Given the description of an element on the screen output the (x, y) to click on. 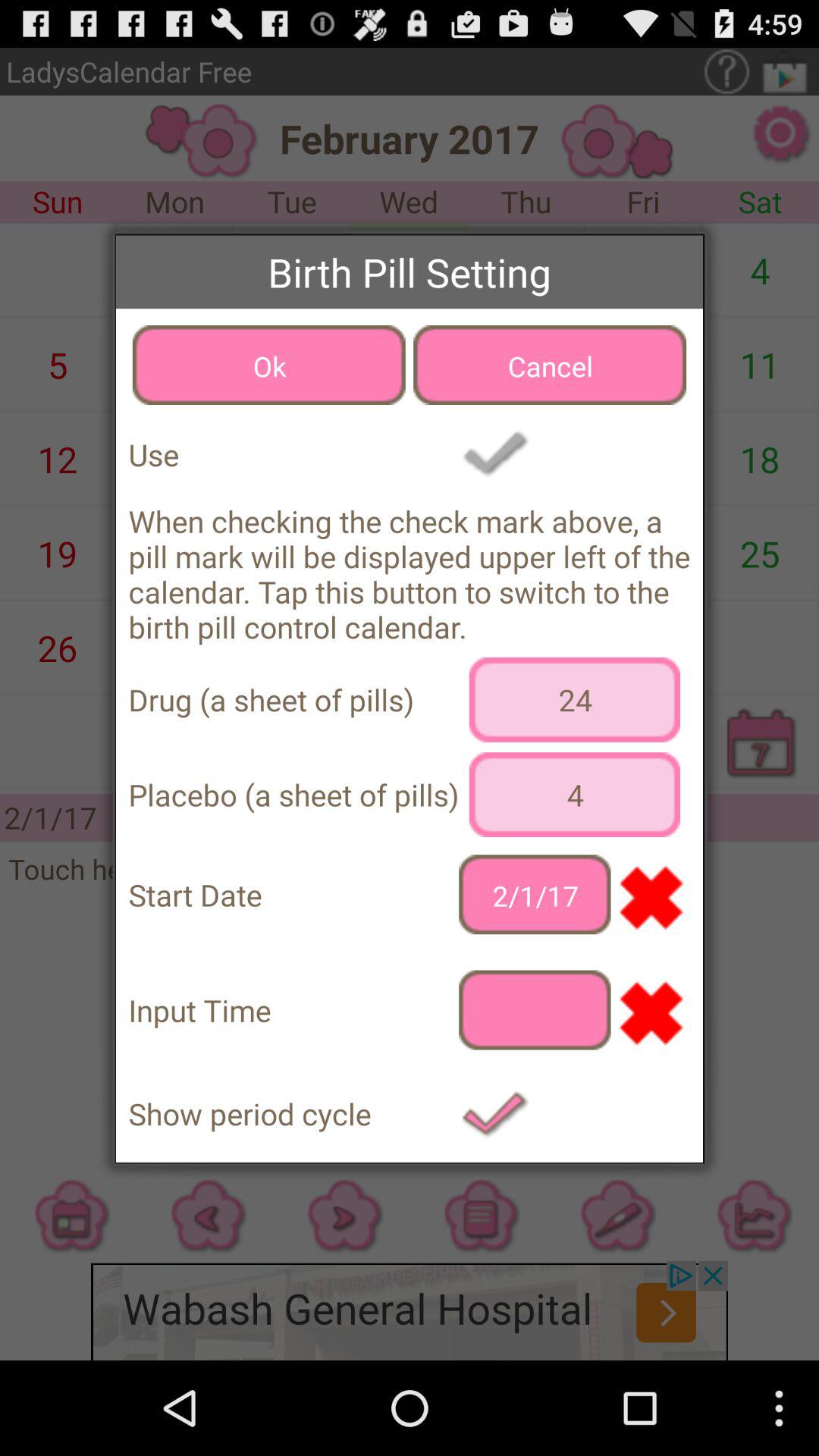
open icon above the 4 (574, 699)
